Given the description of an element on the screen output the (x, y) to click on. 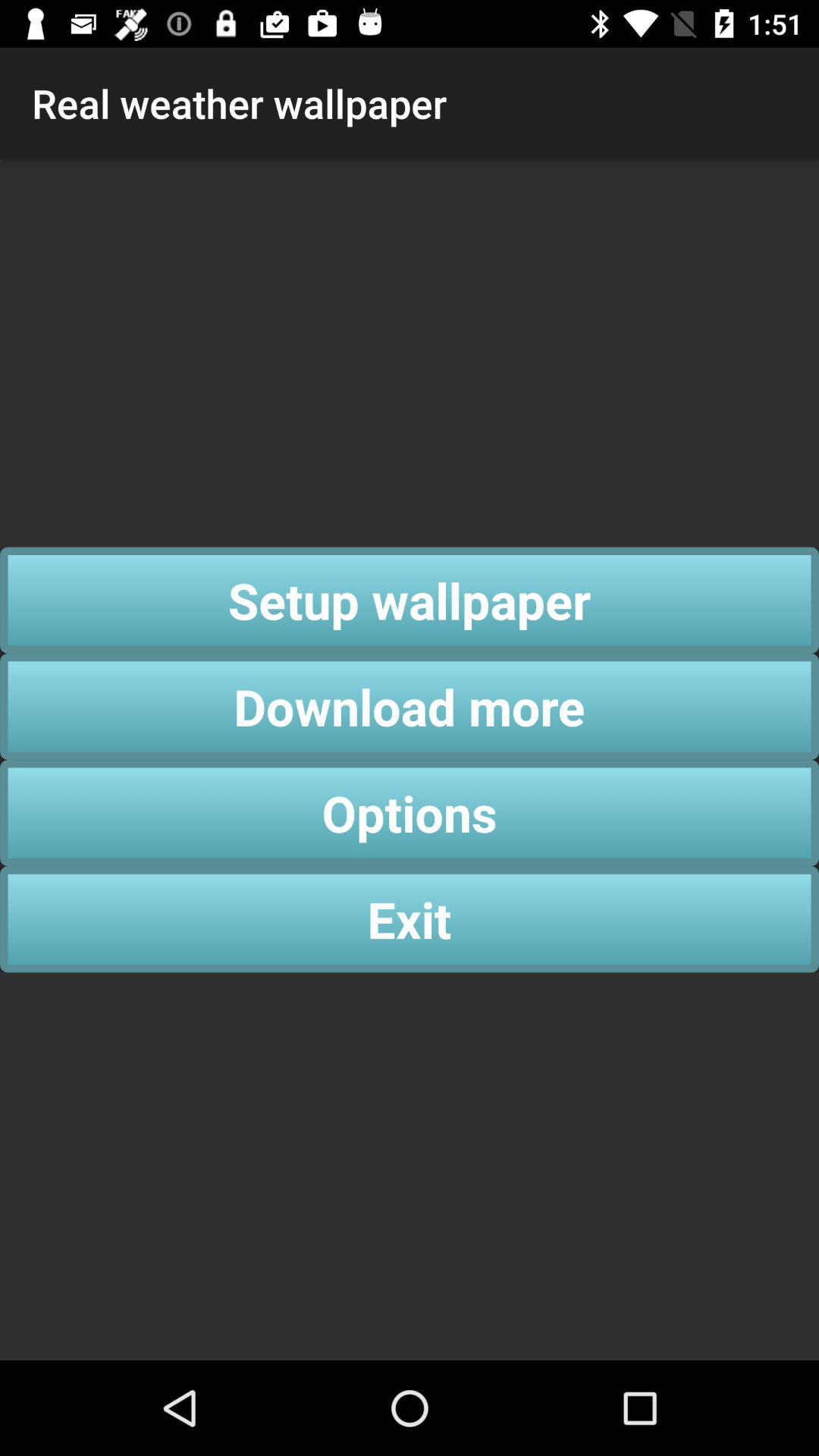
swipe until the options (409, 812)
